Given the description of an element on the screen output the (x, y) to click on. 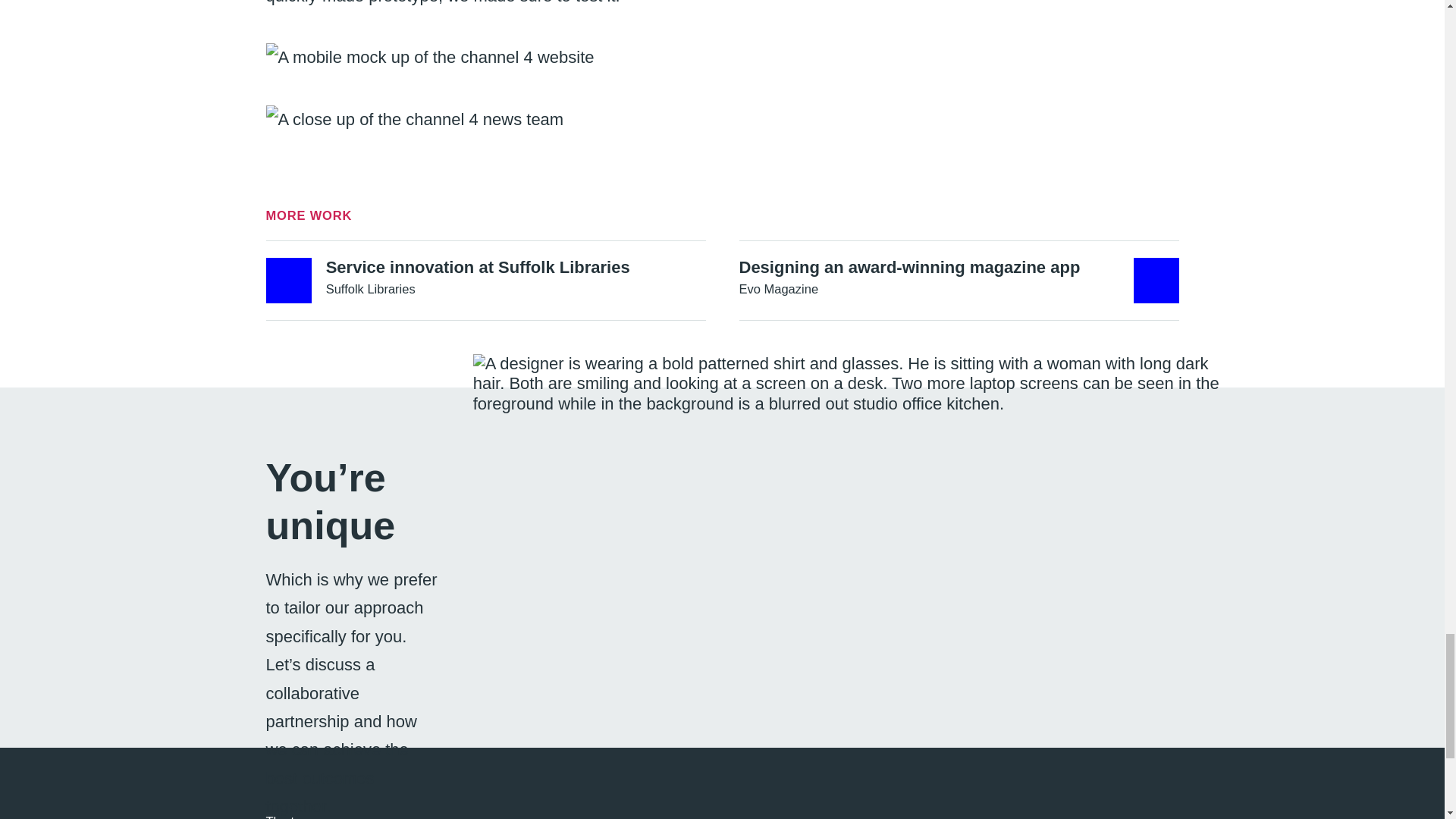
The team (957, 280)
